Given the description of an element on the screen output the (x, y) to click on. 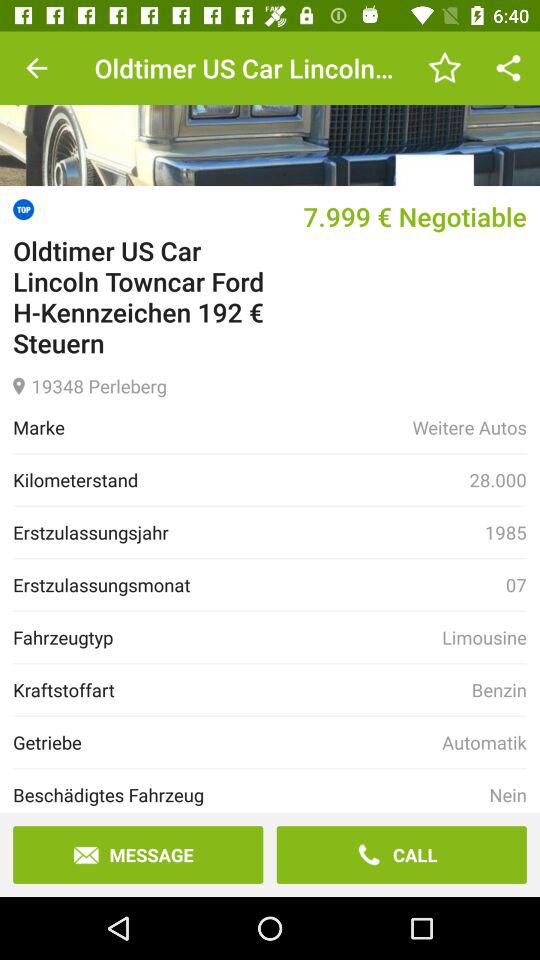
tap the fahrzeugtyp (227, 637)
